Given the description of an element on the screen output the (x, y) to click on. 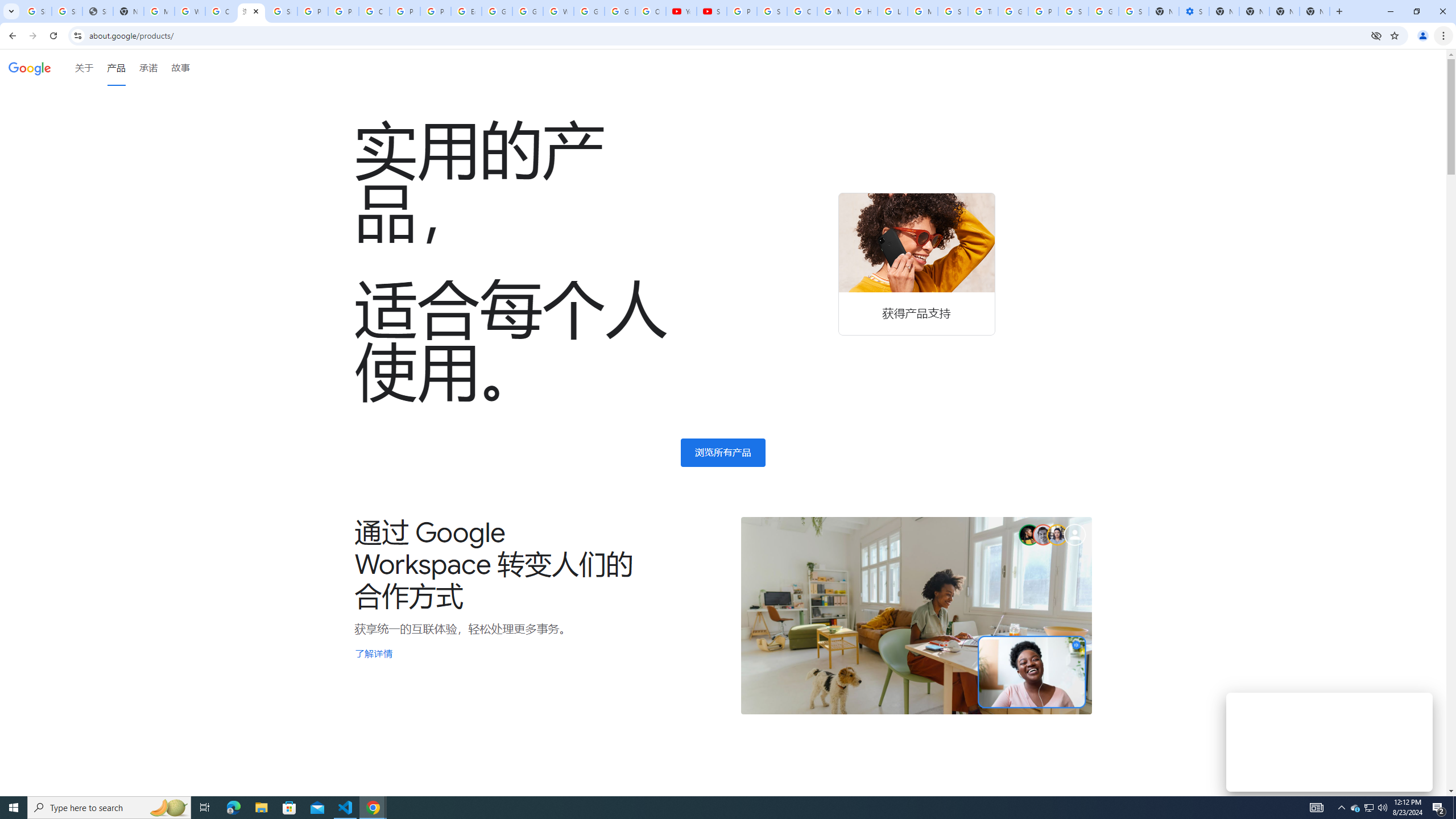
Sign in - Google Accounts (1133, 11)
Create your Google Account (220, 11)
New Tab (1314, 11)
